Given the description of an element on the screen output the (x, y) to click on. 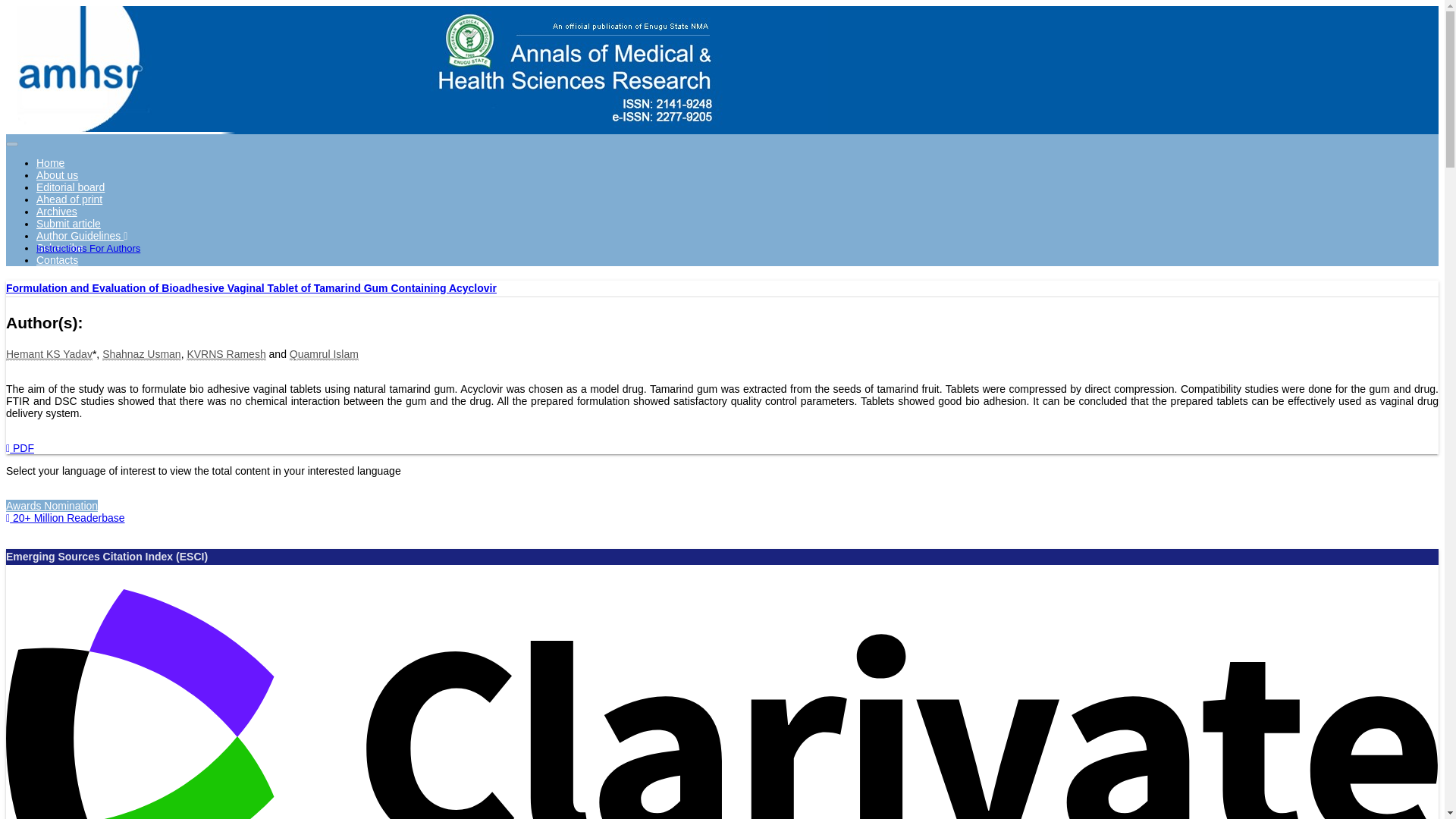
Click here (56, 211)
Contacts (57, 259)
Click here (70, 186)
Click here (57, 259)
PDF (19, 448)
Archives (56, 211)
Click here (57, 174)
Hemant KS Yadav (49, 354)
Quamrul Islam (323, 354)
Instructions For Authors (87, 247)
